Given the description of an element on the screen output the (x, y) to click on. 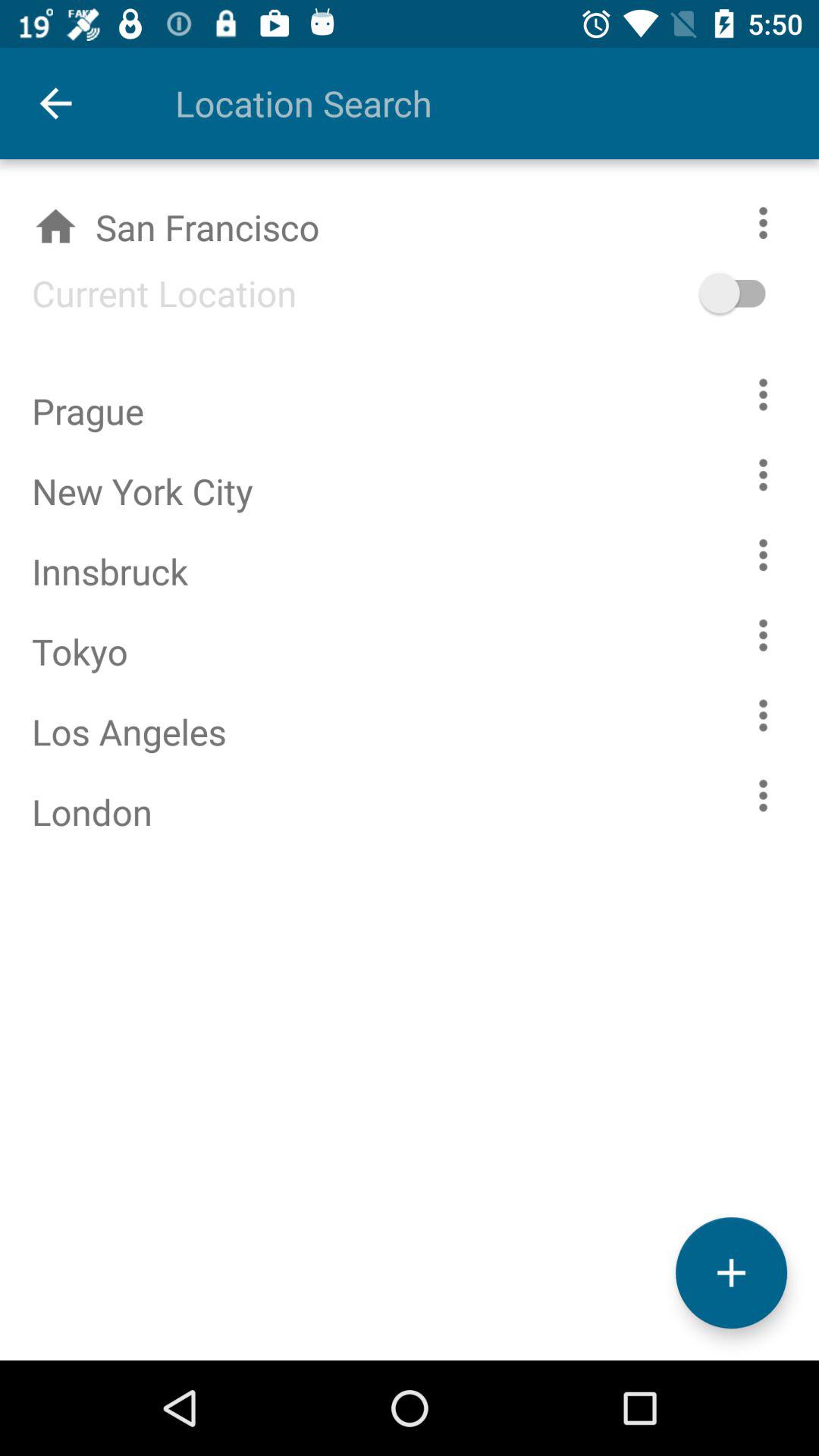
configuration (763, 715)
